Given the description of an element on the screen output the (x, y) to click on. 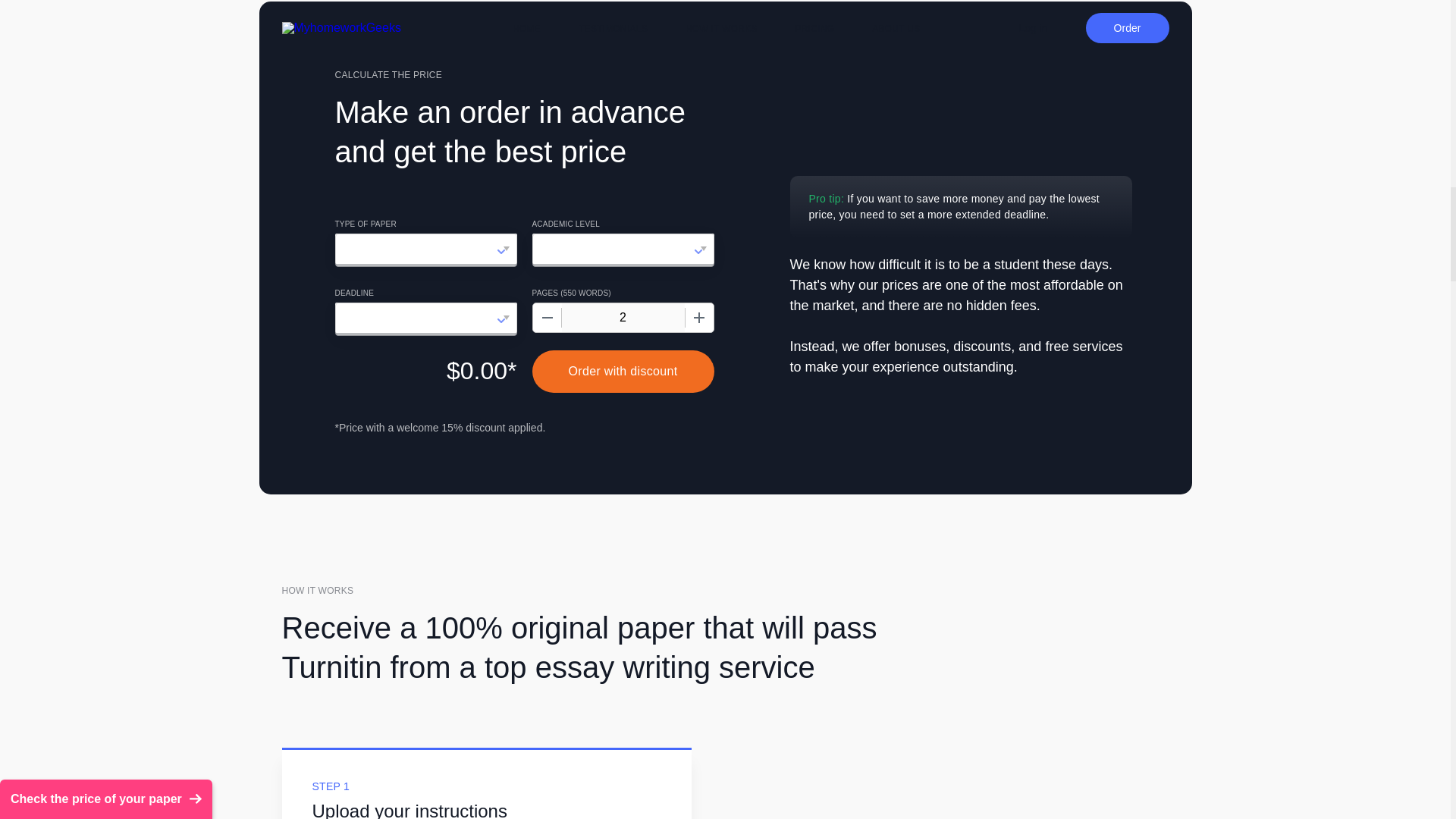
Check the price of your paper (106, 20)
2 (622, 317)
Check the price of your paper (106, 20)
Order with discount (623, 371)
Increase (698, 317)
Decrease (546, 317)
